Given the description of an element on the screen output the (x, y) to click on. 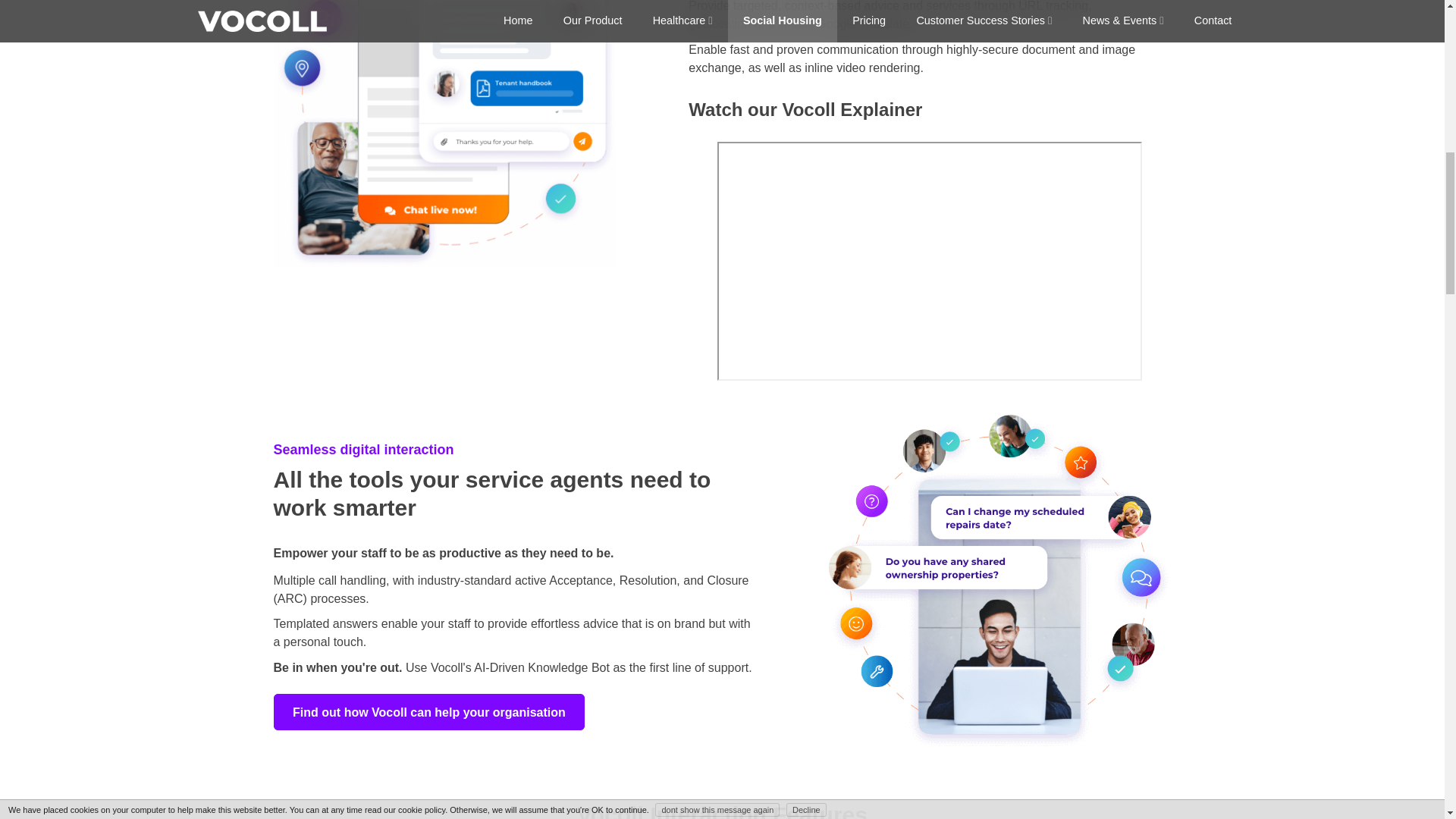
Contact (429, 711)
Find out how Vocoll can help your organisation (429, 711)
